Given the description of an element on the screen output the (x, y) to click on. 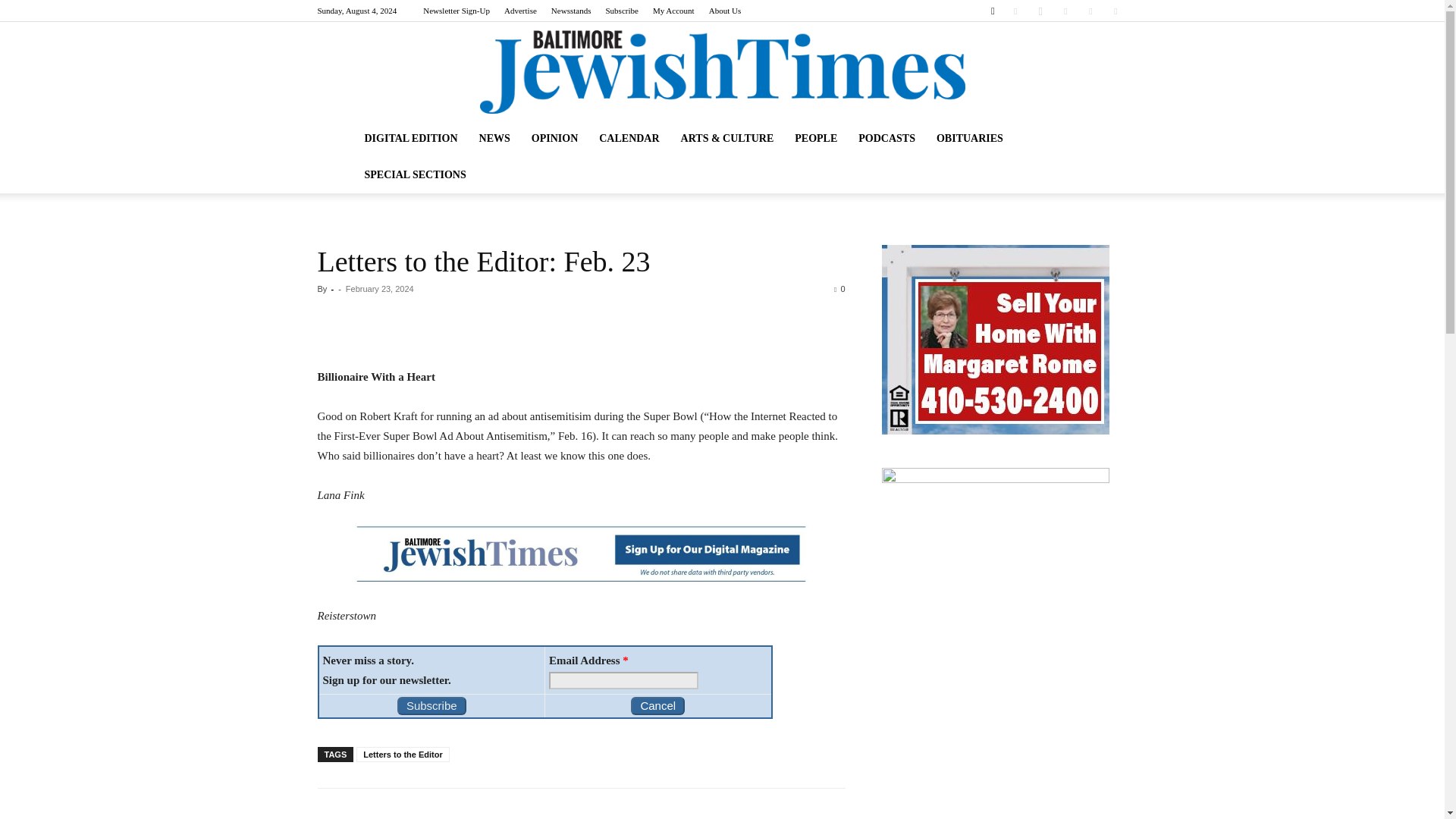
Facebook (1015, 10)
Baltimore Jewish Times (721, 71)
Youtube (1114, 10)
Twitter (1090, 10)
Instagram (1040, 10)
Pinterest (1065, 10)
